Given the description of an element on the screen output the (x, y) to click on. 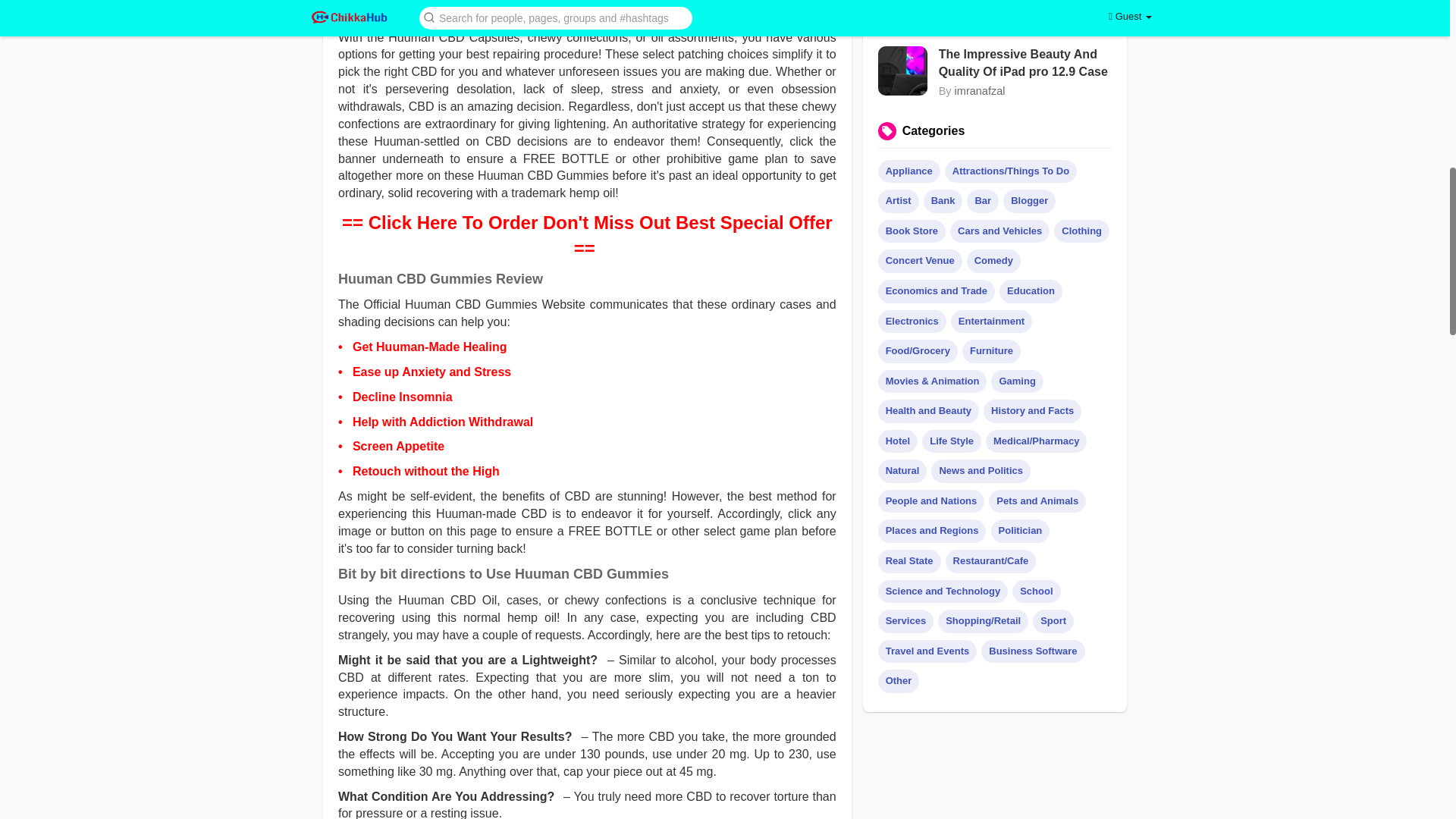
Huuman CBD Gummies (586, 9)
Huuman CBD Gummies Review (440, 278)
Bit by bit directions to Use Huuman CBD Gummies (502, 573)
